Given the description of an element on the screen output the (x, y) to click on. 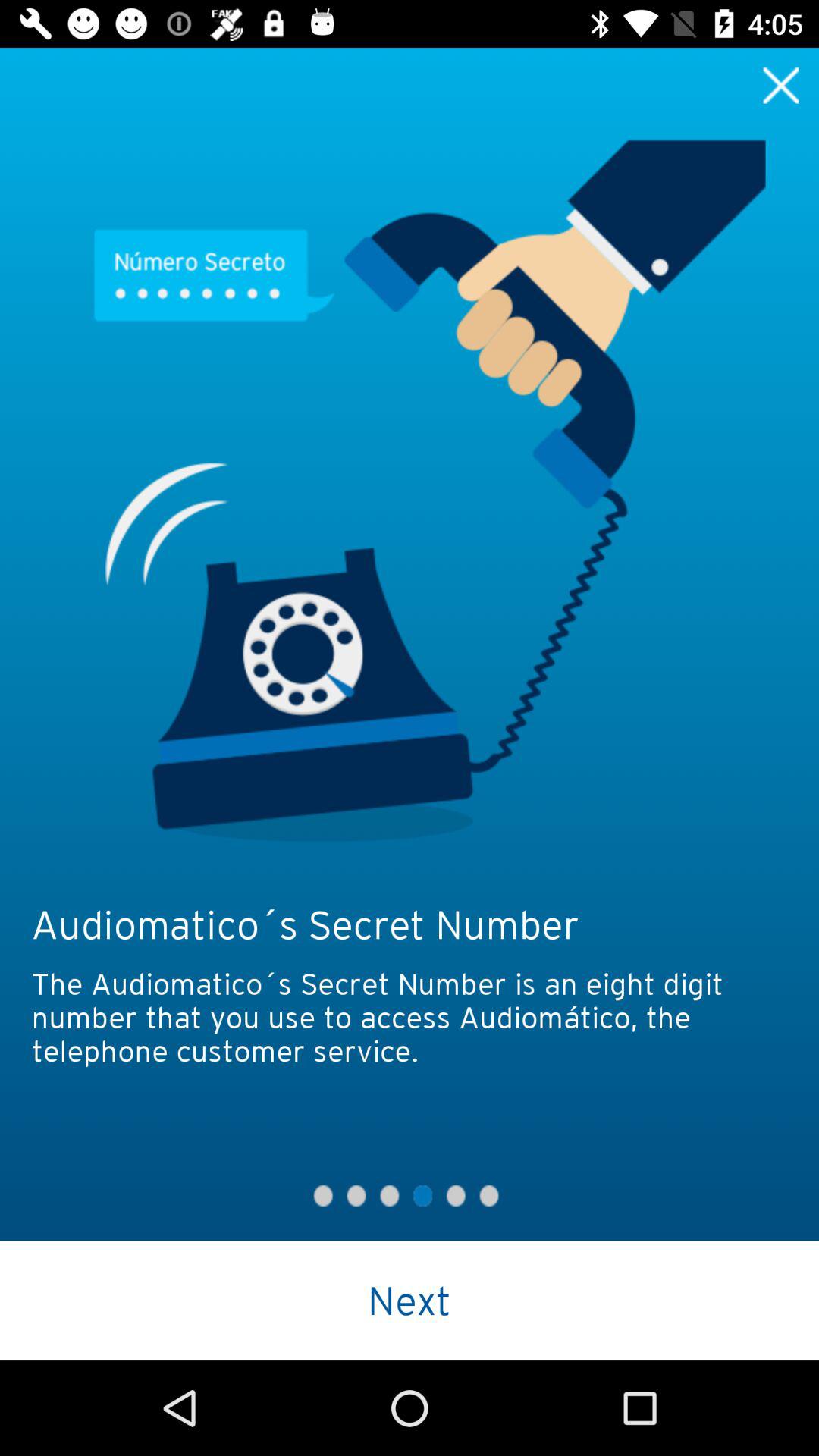
flip until next item (409, 1300)
